Given the description of an element on the screen output the (x, y) to click on. 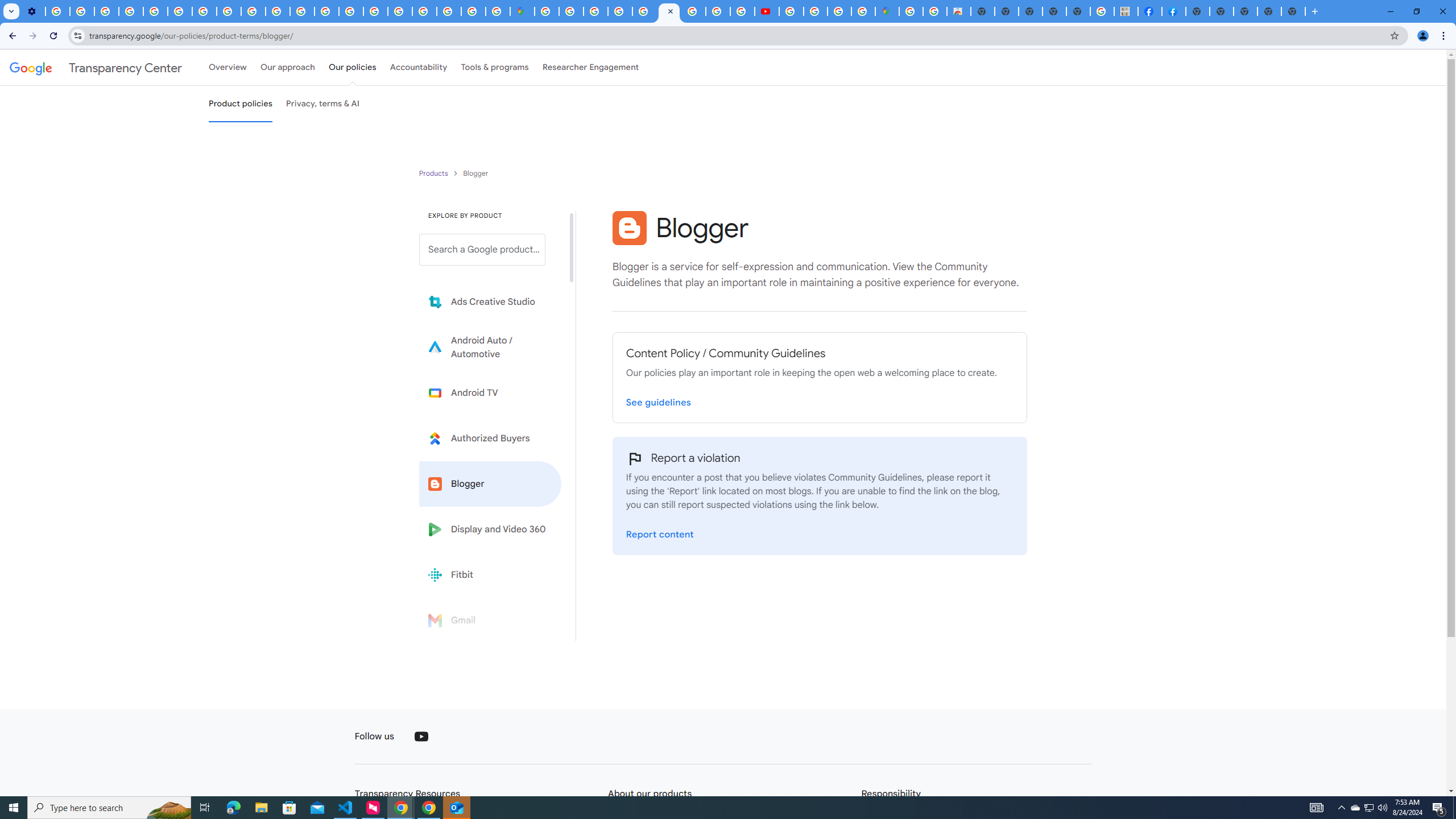
YouTube (180, 11)
Learn how to find your photos - Google Photos Help (82, 11)
Learn more about Android TV (490, 393)
Display and Video 360 (490, 529)
Transparency Center (95, 67)
Tools & programs (494, 67)
Subscriptions - YouTube (766, 11)
New Tab (1245, 11)
How Chrome protects your passwords - Google Chrome Help (791, 11)
